Given the description of an element on the screen output the (x, y) to click on. 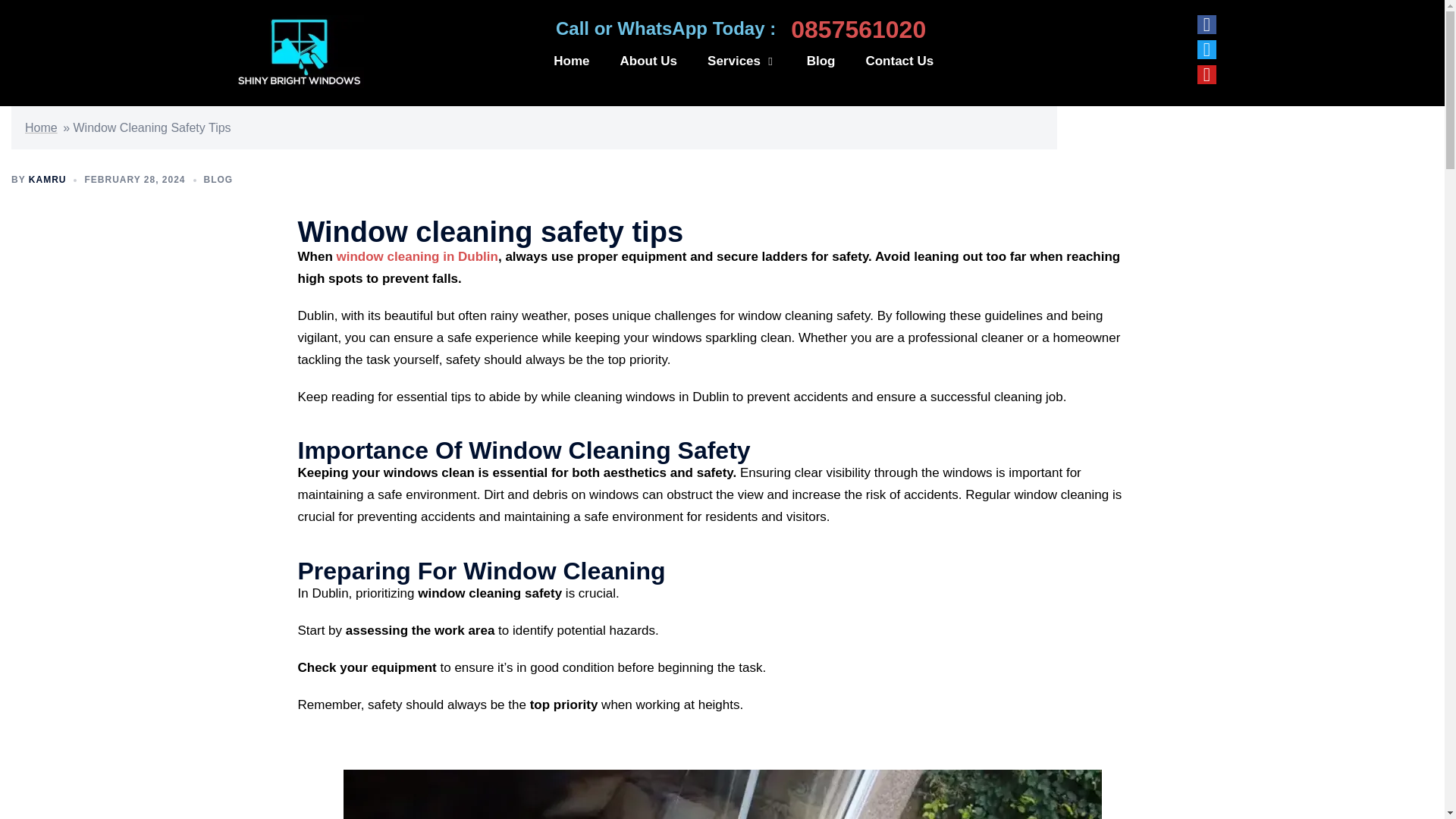
BLOG (217, 179)
Home (571, 61)
About Us (649, 61)
Services (742, 61)
0857561020 (858, 29)
Home (41, 127)
Contact Us (899, 61)
FEBRUARY 28, 2024 (134, 179)
window cleaning in Dublin (416, 256)
KAMRU (47, 179)
